Given the description of an element on the screen output the (x, y) to click on. 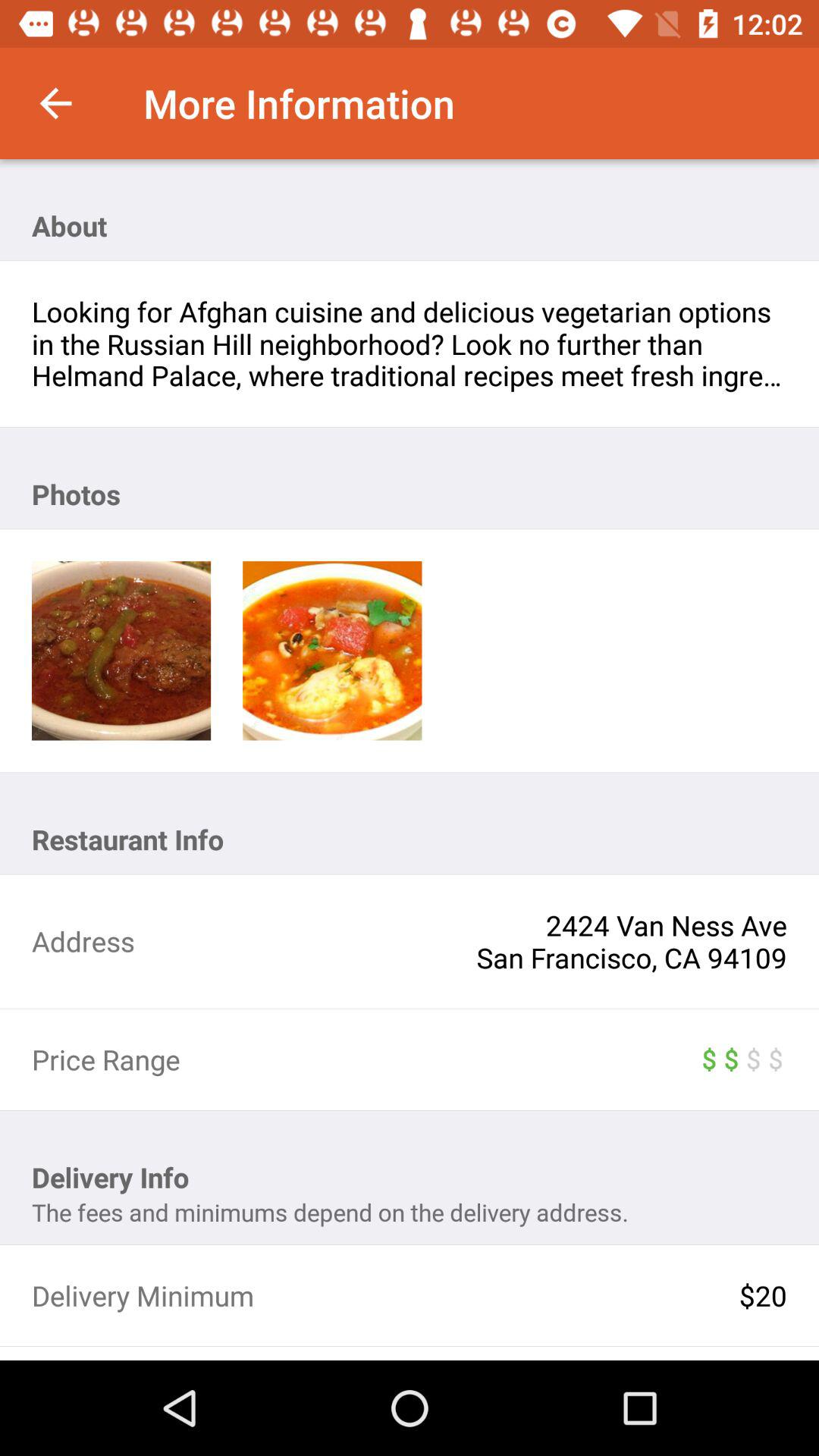
swipe until the looking for afghan (409, 344)
